Given the description of an element on the screen output the (x, y) to click on. 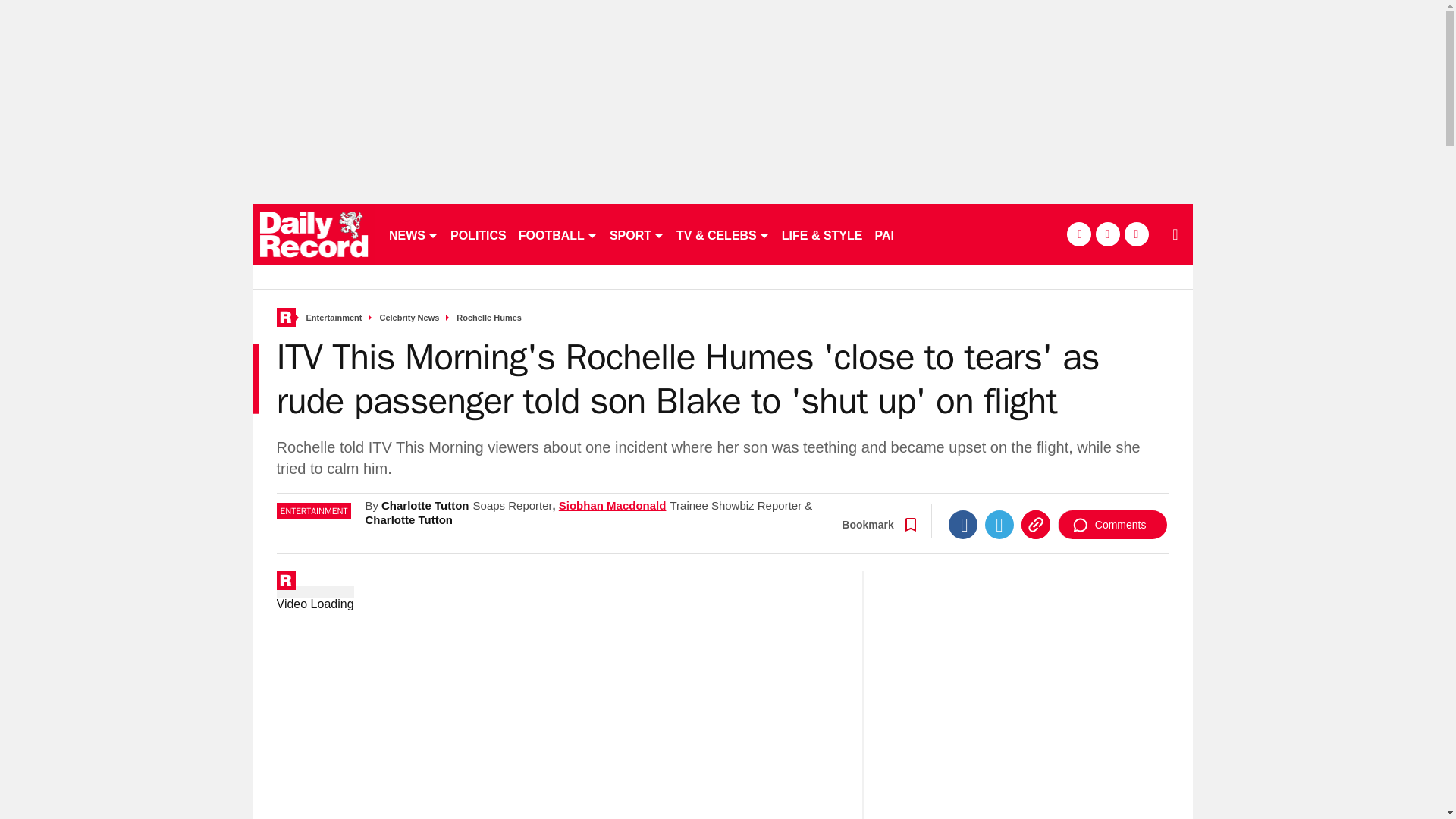
SPORT (636, 233)
NEWS (413, 233)
POLITICS (478, 233)
Facebook (962, 524)
facebook (1077, 233)
FOOTBALL (558, 233)
twitter (1106, 233)
Comments (1112, 524)
instagram (1136, 233)
Twitter (999, 524)
